Given the description of an element on the screen output the (x, y) to click on. 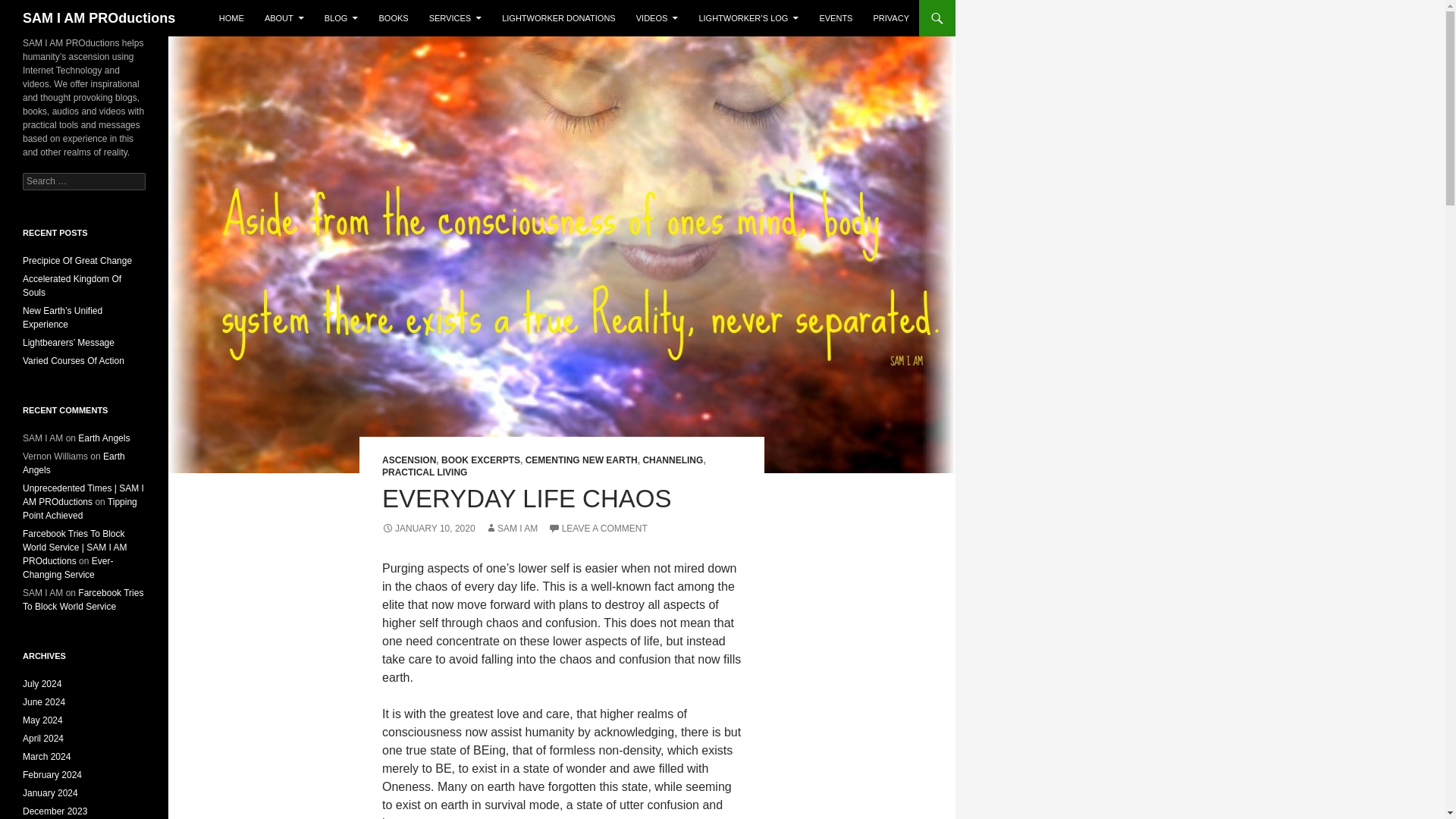
SAM I AM PROductions (98, 18)
BOOK EXCERPTS (480, 460)
PRIVACY (891, 18)
LIGHTWORKER DONATIONS (558, 18)
SAM I AM (510, 528)
BLOG (341, 18)
BOOKS (392, 18)
EVENTS (835, 18)
JANUARY 10, 2020 (428, 528)
LEAVE A COMMENT (597, 528)
PRACTICAL LIVING (424, 471)
VIDEOS (657, 18)
SERVICES (455, 18)
CEMENTING NEW EARTH (581, 460)
ABOUT (284, 18)
